Given the description of an element on the screen output the (x, y) to click on. 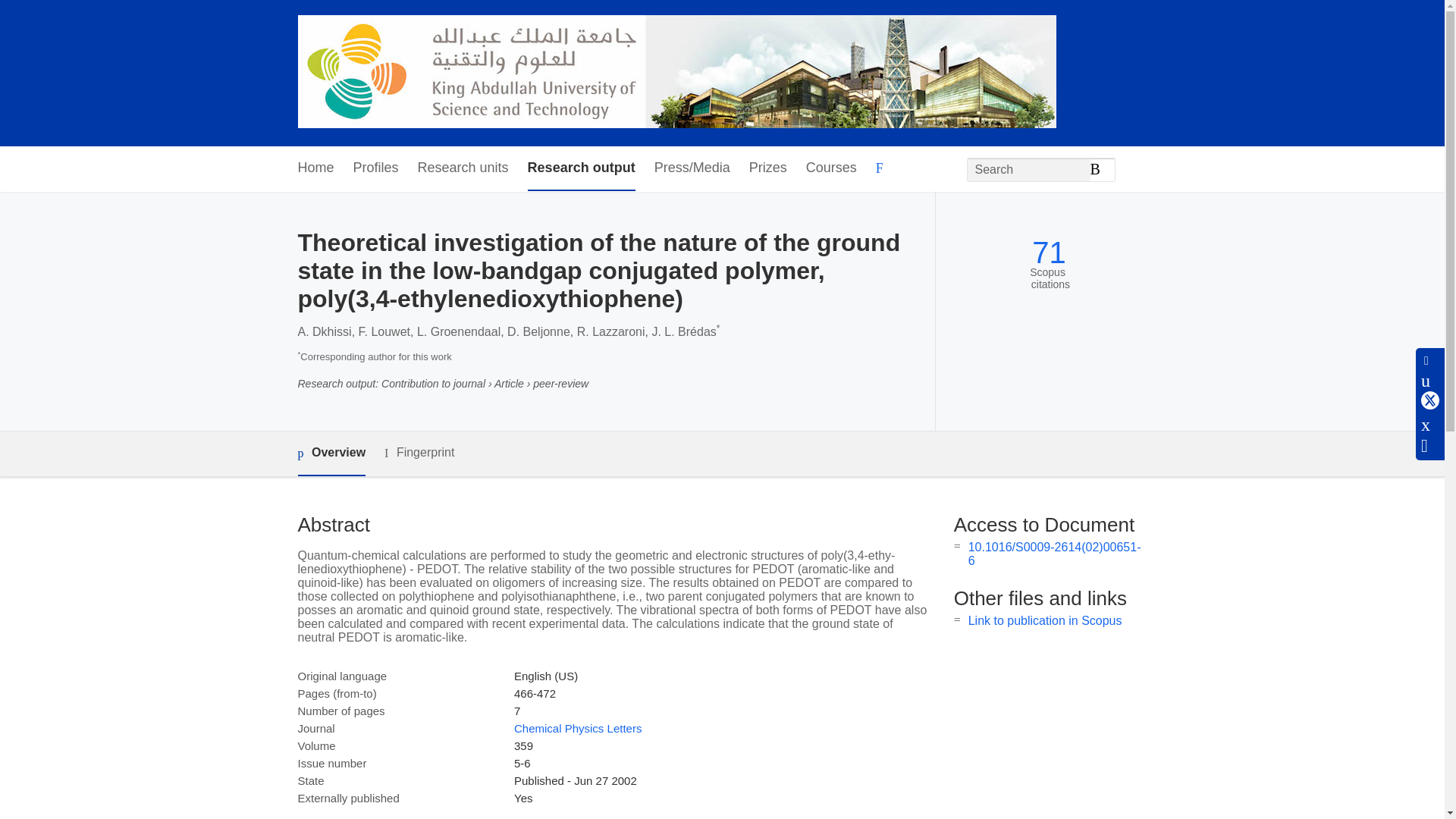
71 (1048, 252)
Chemical Physics Letters (577, 727)
Fingerprint (419, 453)
Profiles (375, 168)
Research output (580, 168)
Overview (331, 453)
Link to publication in Scopus (1045, 620)
KAUST PORTAL FOR RESEARCHERS AND STUDENTS Home (676, 73)
Courses (831, 168)
